Given the description of an element on the screen output the (x, y) to click on. 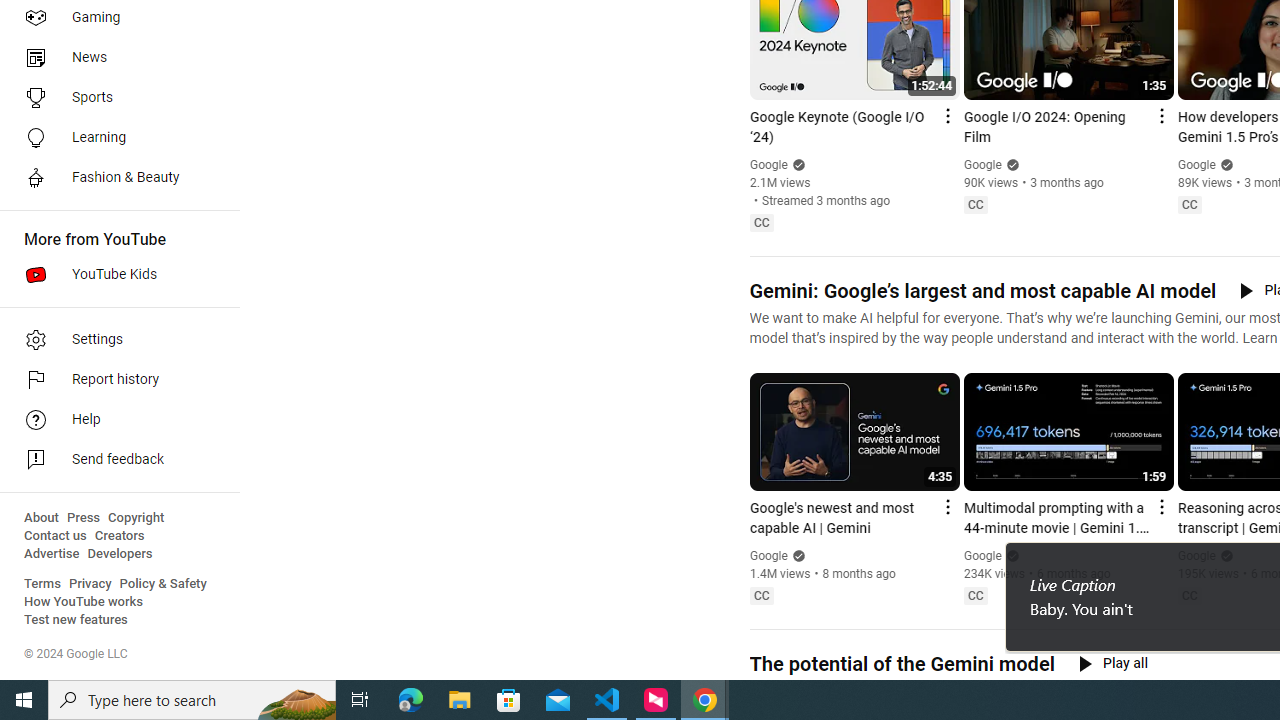
Verified (1223, 555)
News (113, 57)
